Given the description of an element on the screen output the (x, y) to click on. 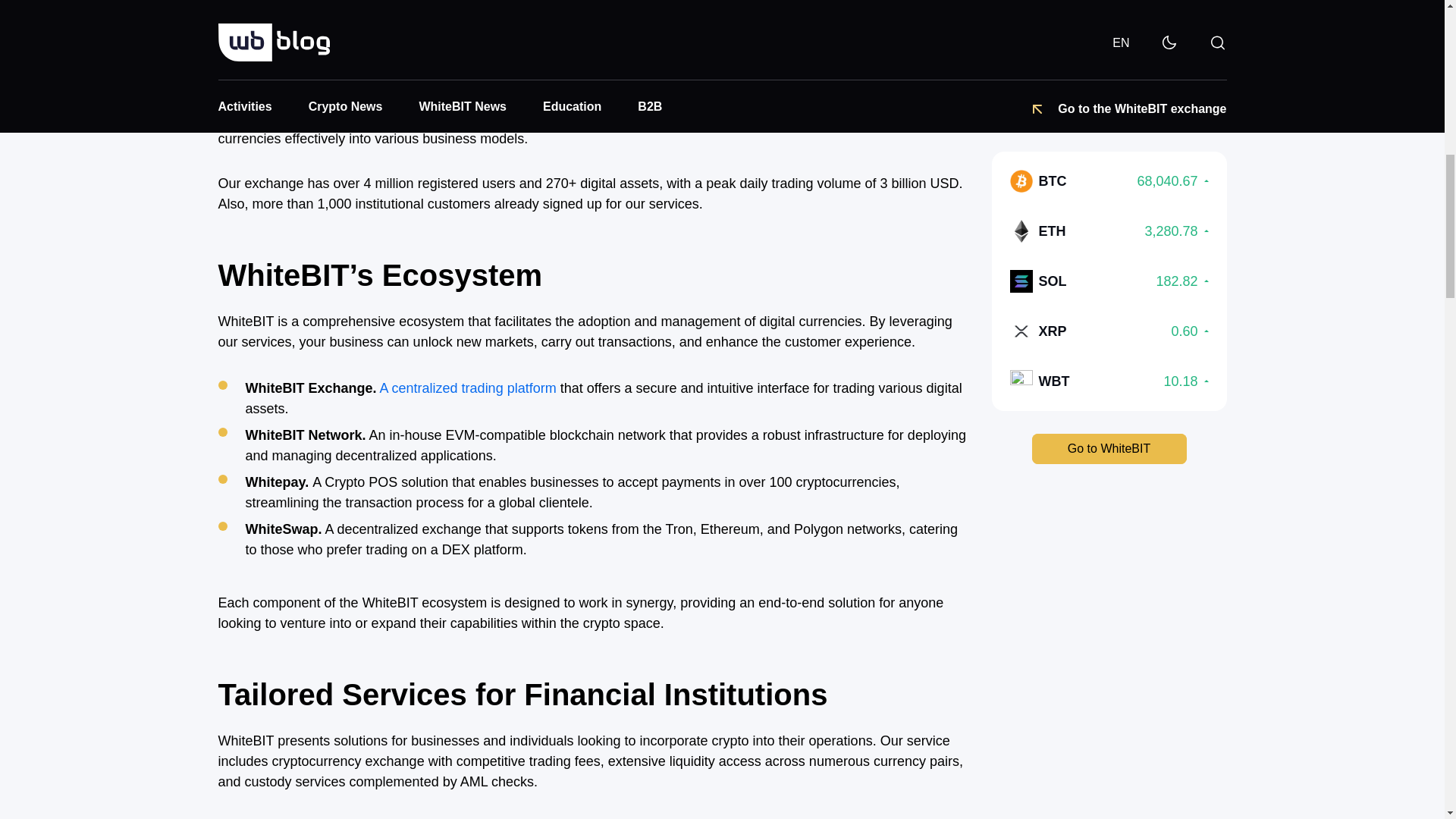
Why Us? (607, 50)
Compliance and Security (607, 23)
A centralized trading platform (468, 387)
